Given the description of an element on the screen output the (x, y) to click on. 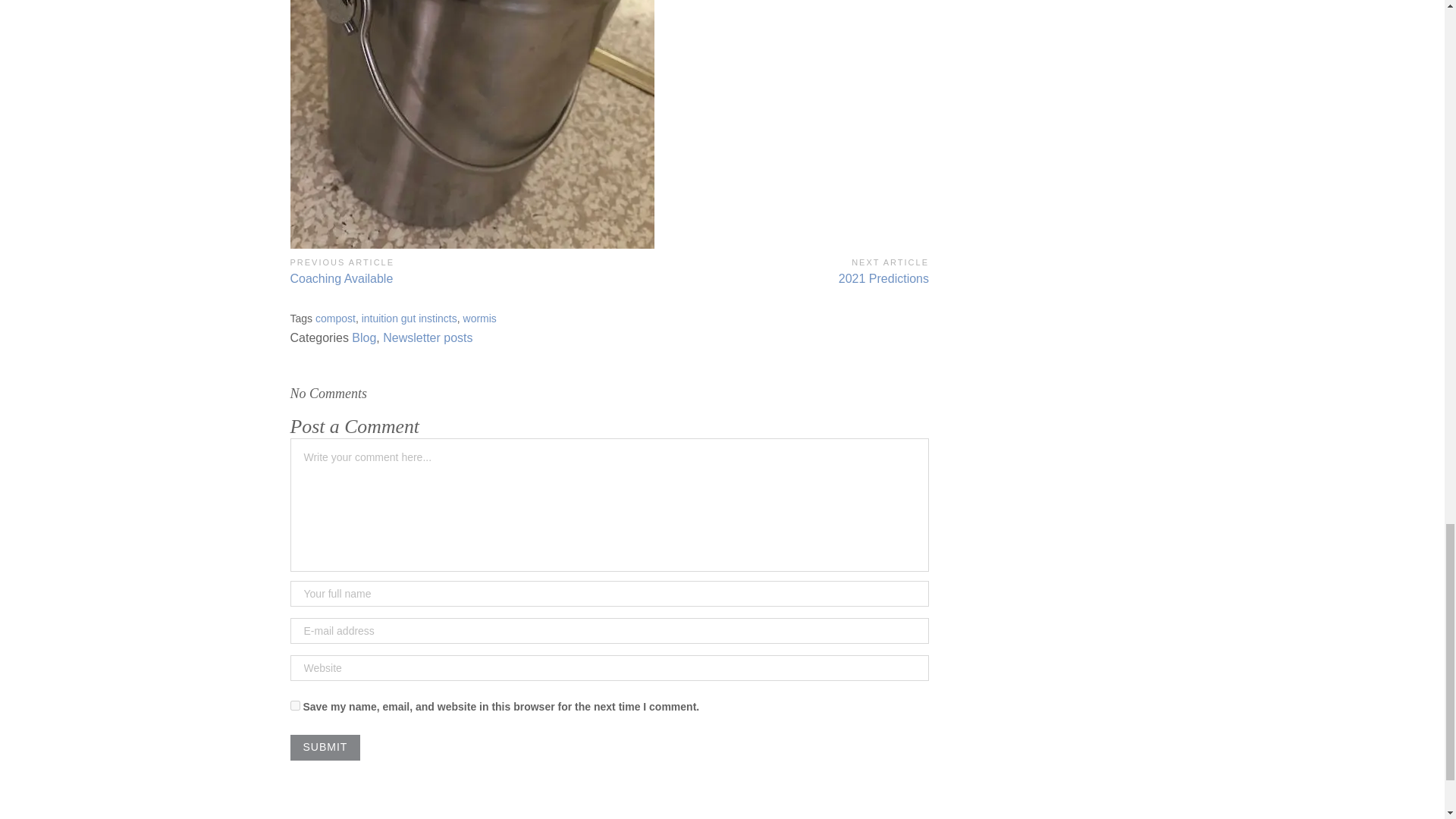
yes (769, 270)
Blog (294, 705)
Newsletter posts (363, 337)
intuition gut instincts (426, 337)
compost (409, 318)
wormis (335, 318)
Submit (479, 318)
Submit (448, 270)
